Given the description of an element on the screen output the (x, y) to click on. 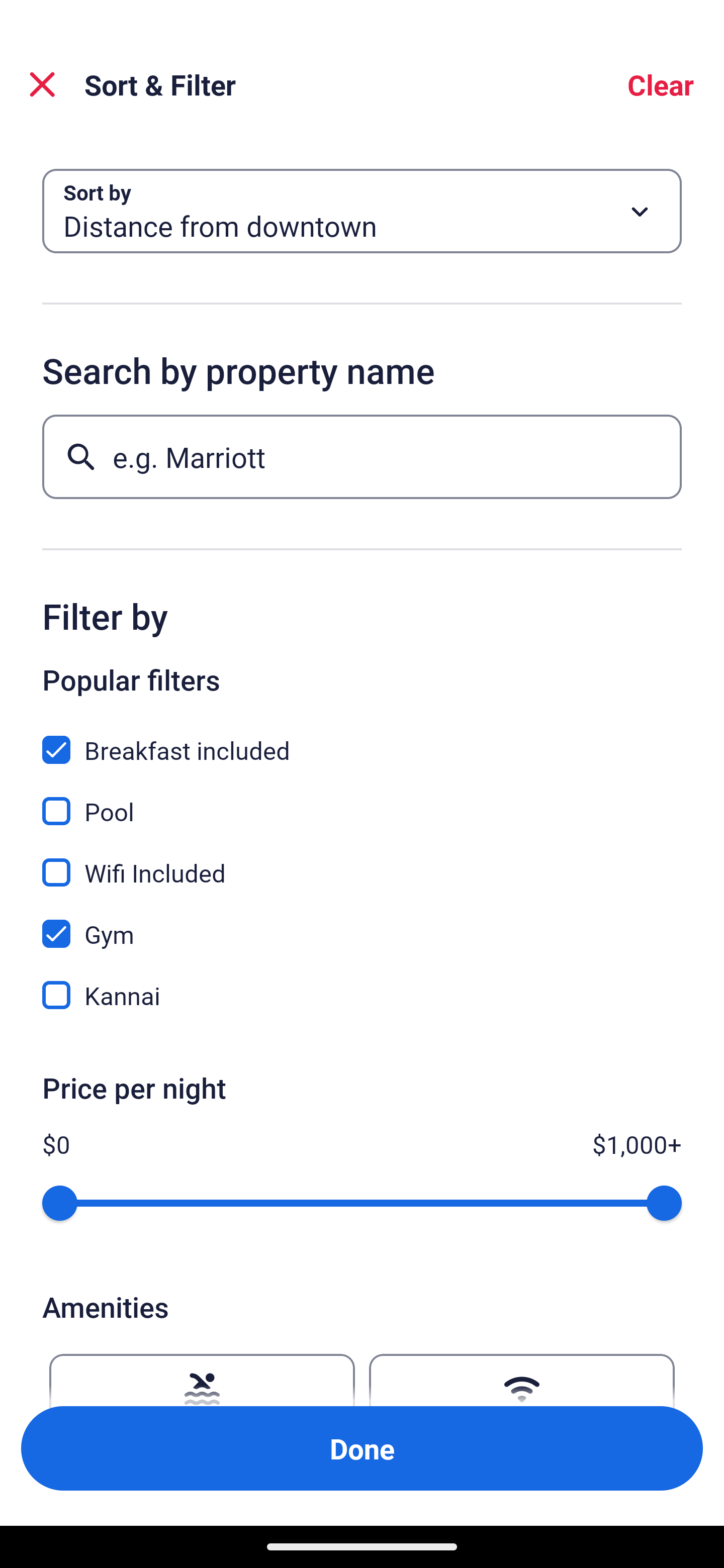
Close Sort and Filter (42, 84)
Clear (660, 84)
Sort by Button Distance from downtown (361, 211)
e.g. Marriott Button (361, 455)
Breakfast included, Breakfast included (361, 738)
Pool, Pool (361, 800)
Wifi Included, Wifi Included (361, 861)
Gym, Gym (361, 922)
Kannai, Kannai (361, 995)
Apply and close Sort and Filter Done (361, 1448)
